Given the description of an element on the screen output the (x, y) to click on. 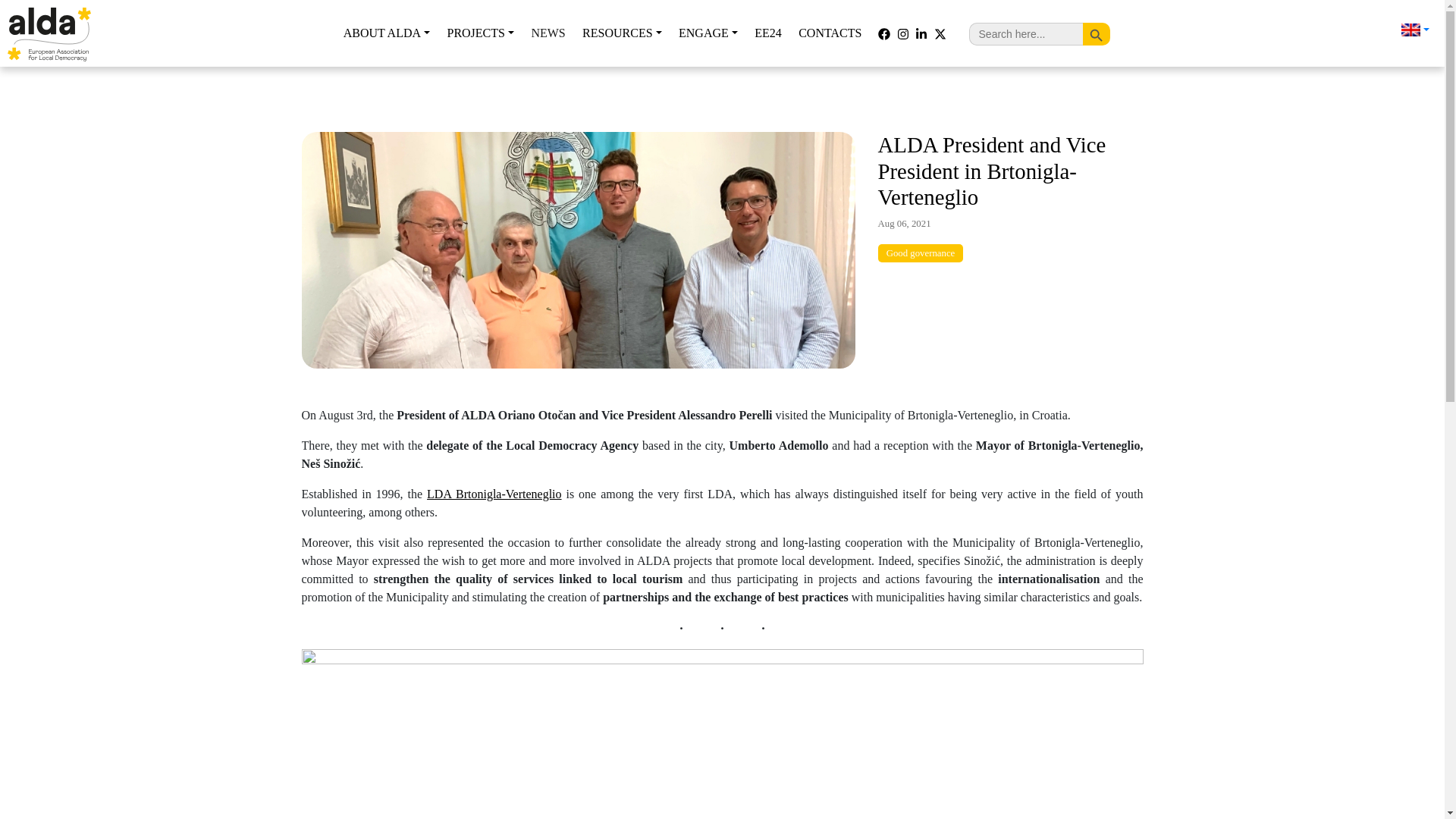
ENGAGE (707, 33)
Search Button (1096, 33)
PROJECTS (480, 33)
ABOUT ALDA (386, 33)
RESOURCES (621, 33)
CONTACTS (830, 33)
Good governance (920, 253)
